Given the description of an element on the screen output the (x, y) to click on. 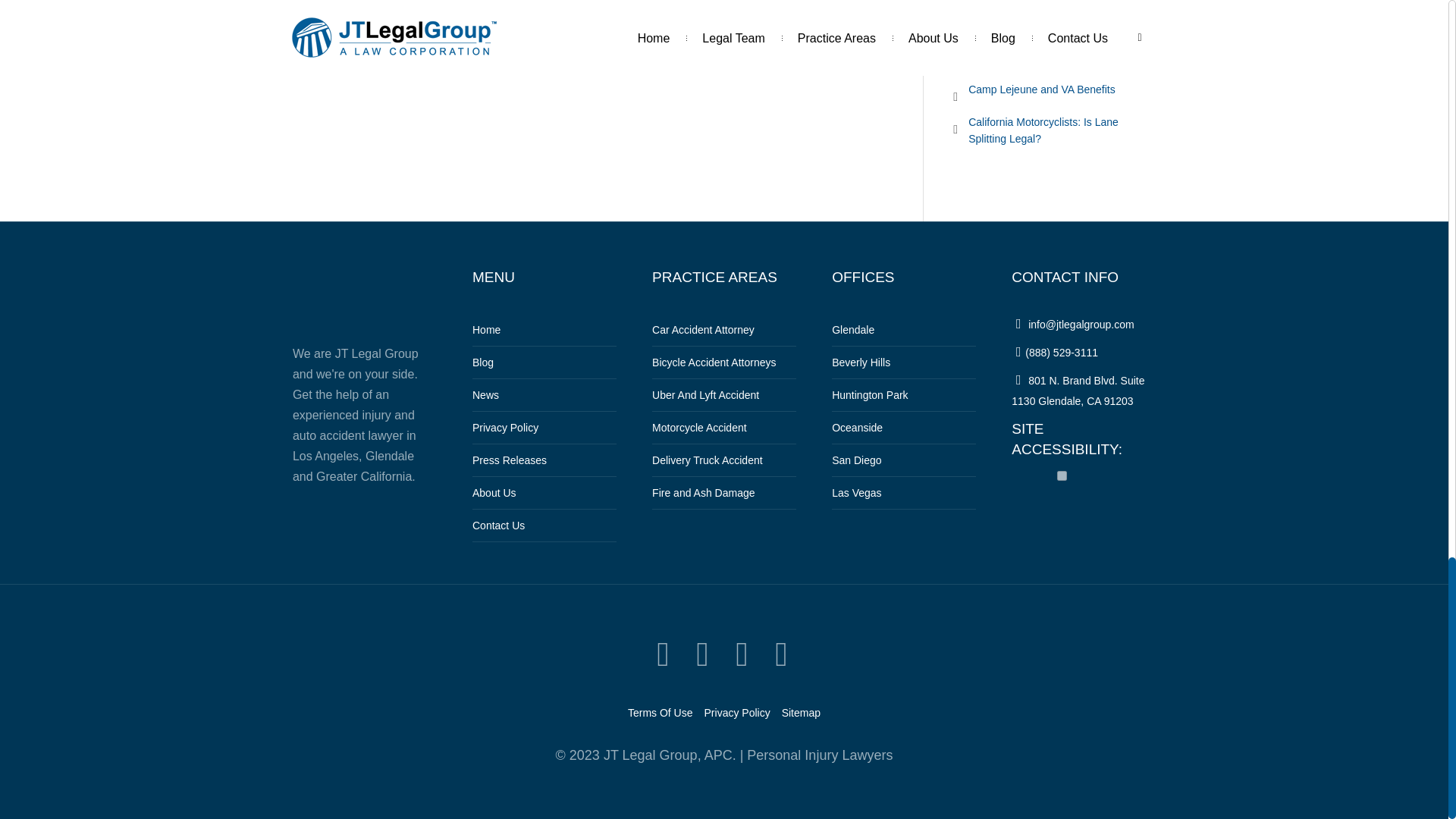
Twitter (662, 654)
Facebook (702, 654)
on (1062, 475)
Skype (780, 654)
linkedin (741, 654)
